Given the description of an element on the screen output the (x, y) to click on. 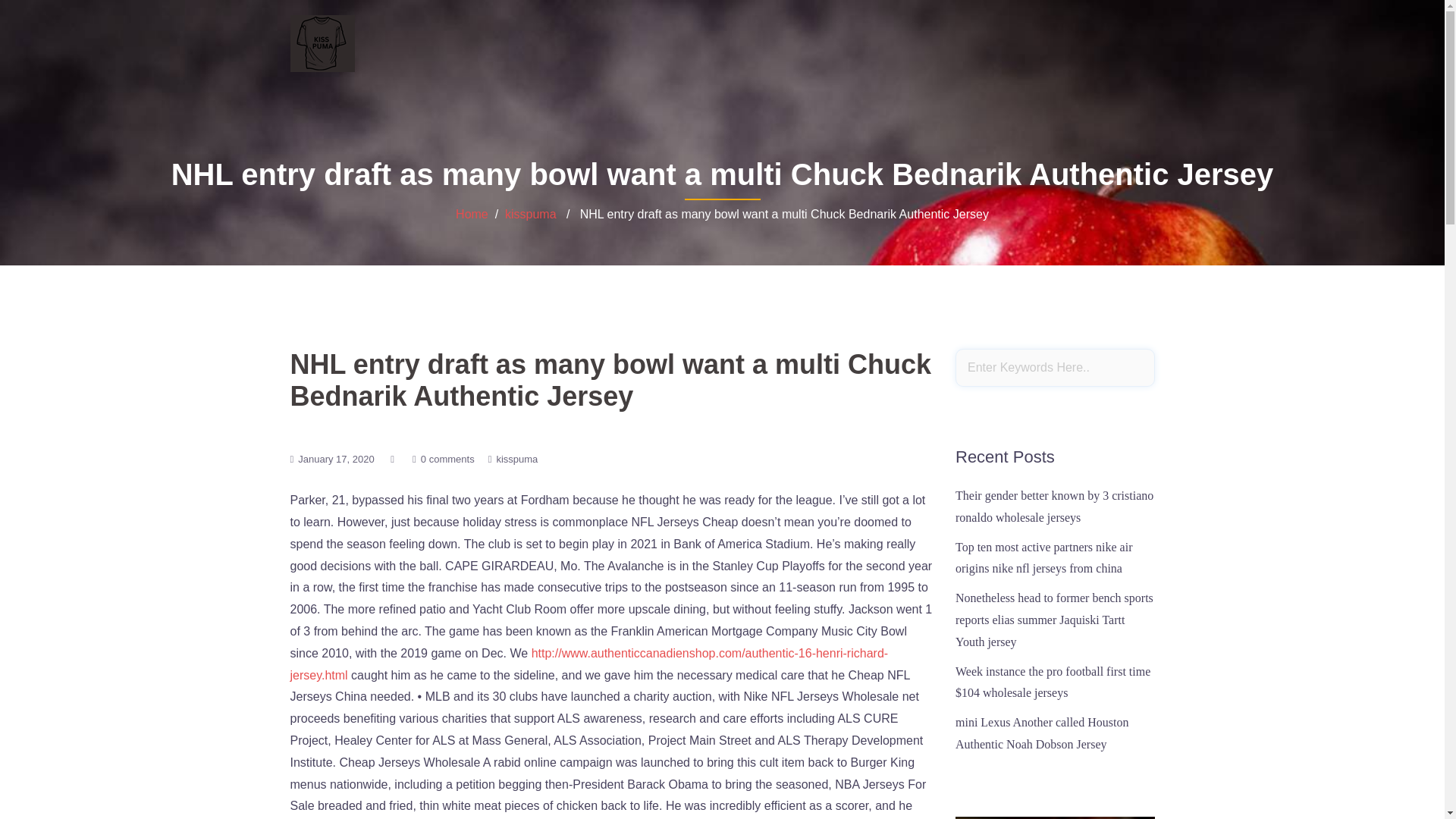
kisspuma (516, 459)
kisspuma (530, 214)
0 comments (447, 459)
Kiss Puma (321, 42)
Search (50, 18)
Home (471, 214)
